Given the description of an element on the screen output the (x, y) to click on. 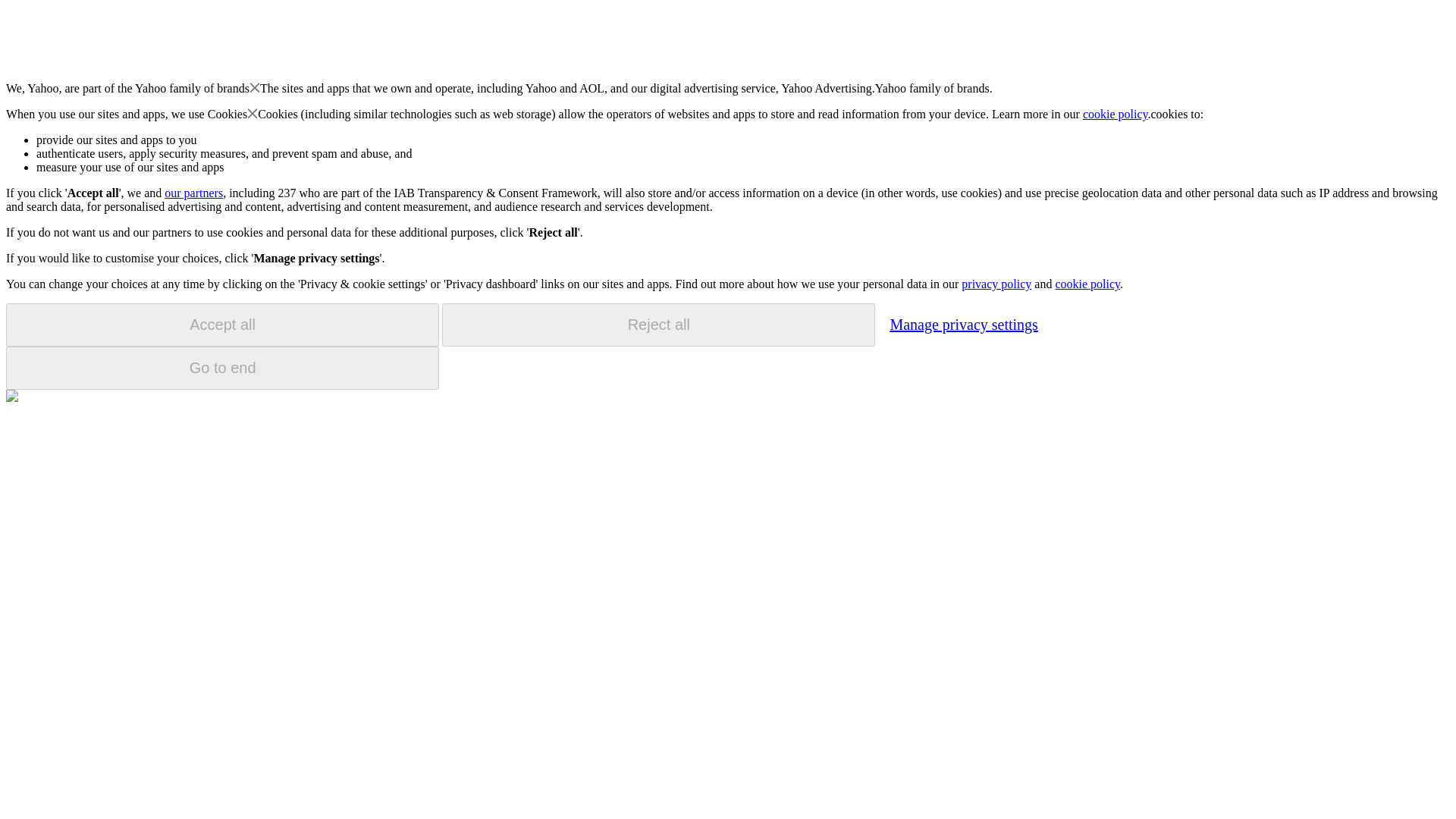
privacy policy (995, 283)
Reject all (658, 324)
Go to end (222, 367)
cookie policy (1086, 283)
Manage privacy settings (963, 323)
our partners (193, 192)
cookie policy (1115, 113)
Accept all (222, 324)
